Given the description of an element on the screen output the (x, y) to click on. 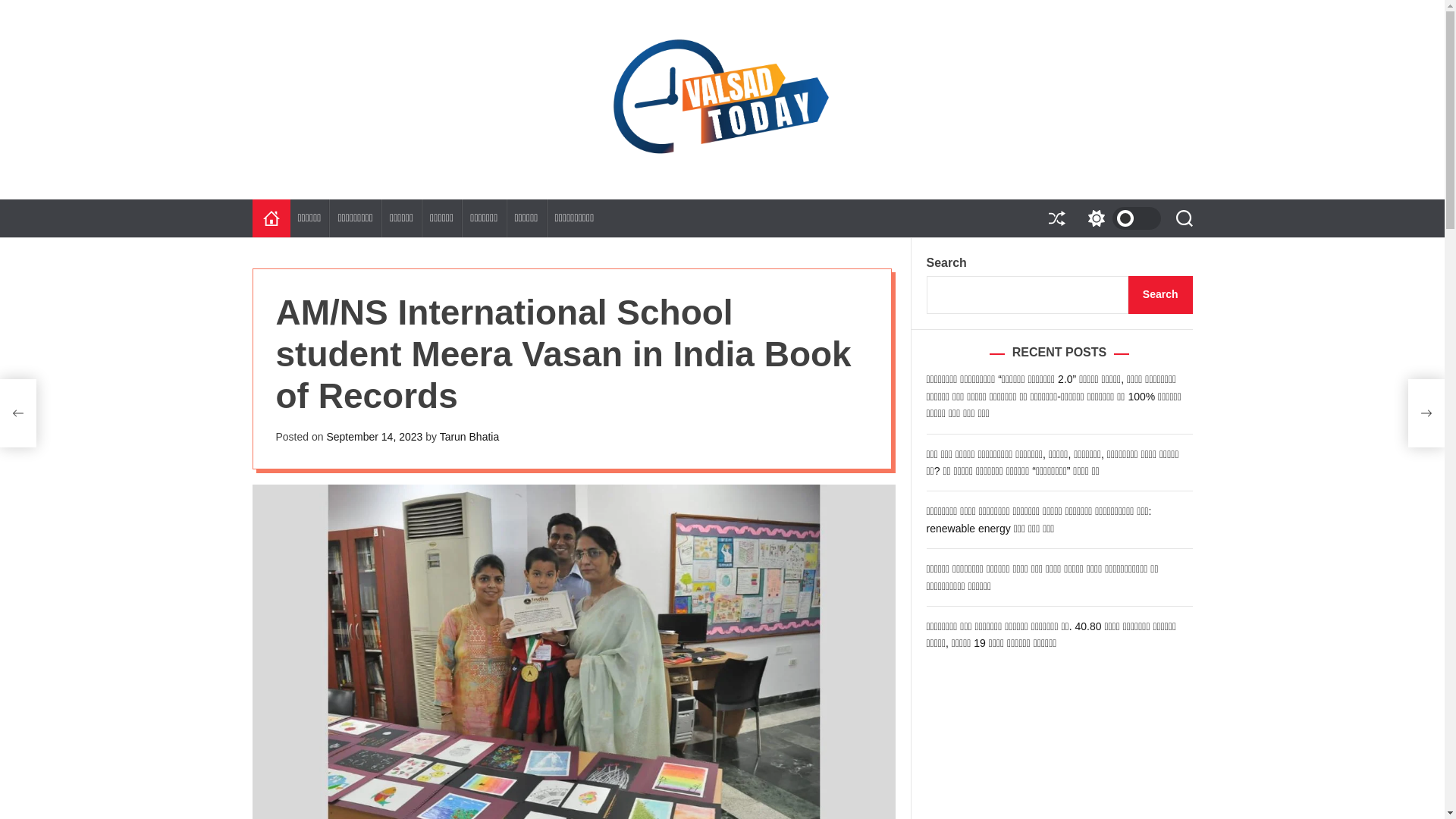
Switch color mode (1120, 218)
Tarun Bhatia (469, 436)
September 14, 2023 (374, 436)
